Given the description of an element on the screen output the (x, y) to click on. 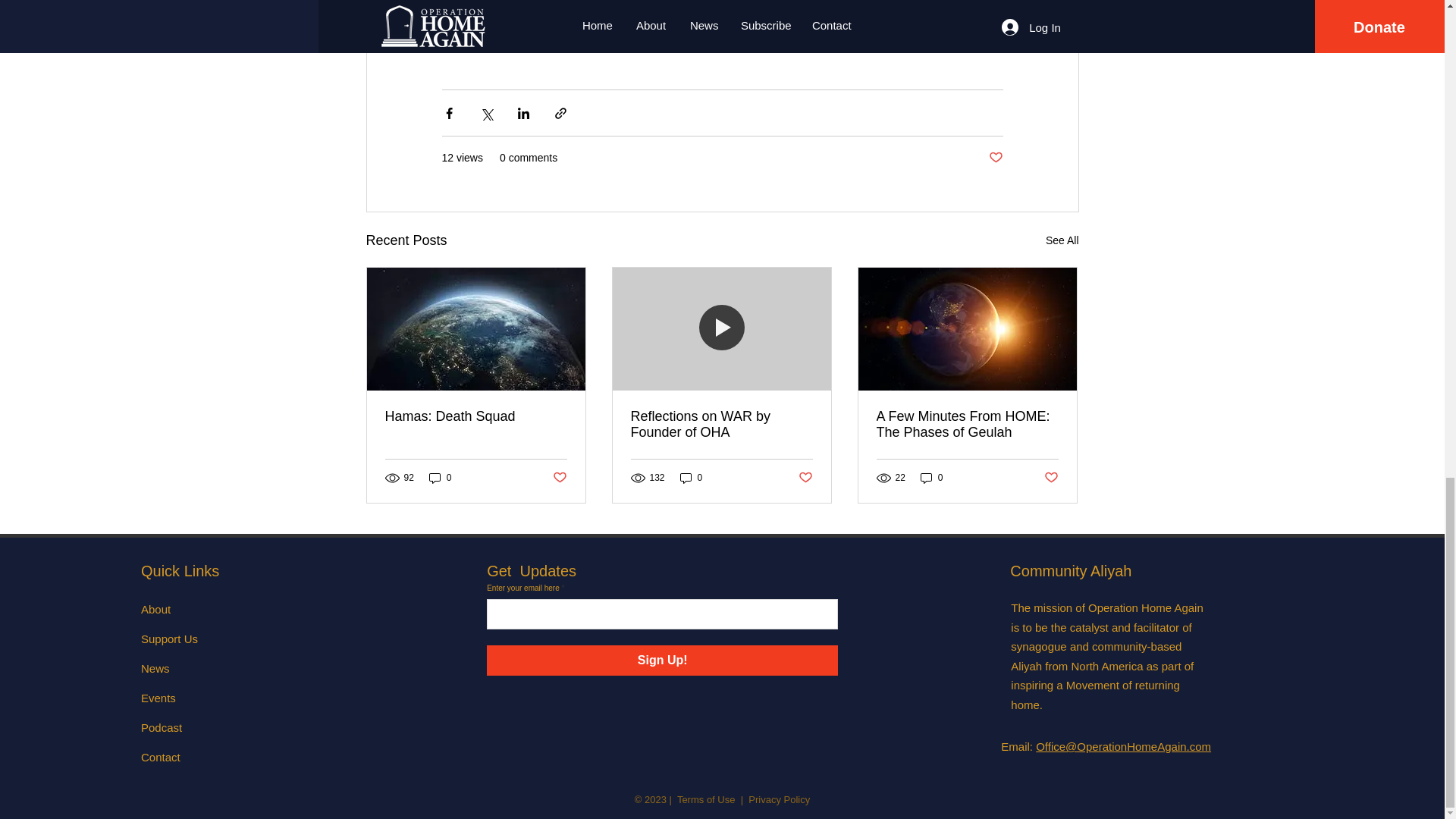
Post not marked as liked (558, 478)
Podcast (161, 727)
0 (691, 477)
0 (931, 477)
Support Us (169, 638)
Post not marked as liked (1050, 478)
Reflections on WAR by Founder of OHA (721, 424)
About (155, 608)
See All (1061, 240)
Contact (160, 757)
